Given the description of an element on the screen output the (x, y) to click on. 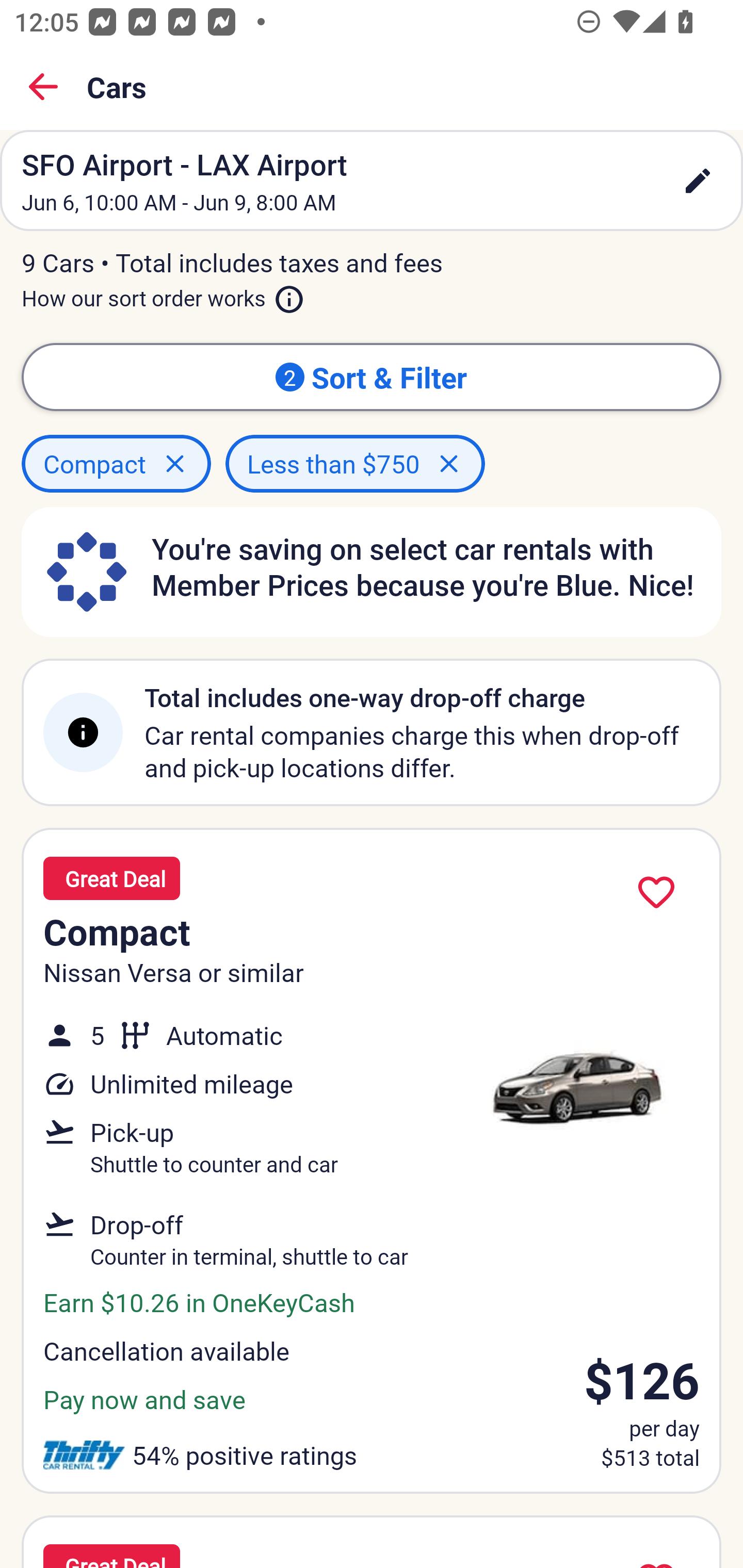
Back (43, 86)
edit (697, 180)
How our sort order works (163, 294)
2 Sort & Filter (371, 376)
